Given the description of an element on the screen output the (x, y) to click on. 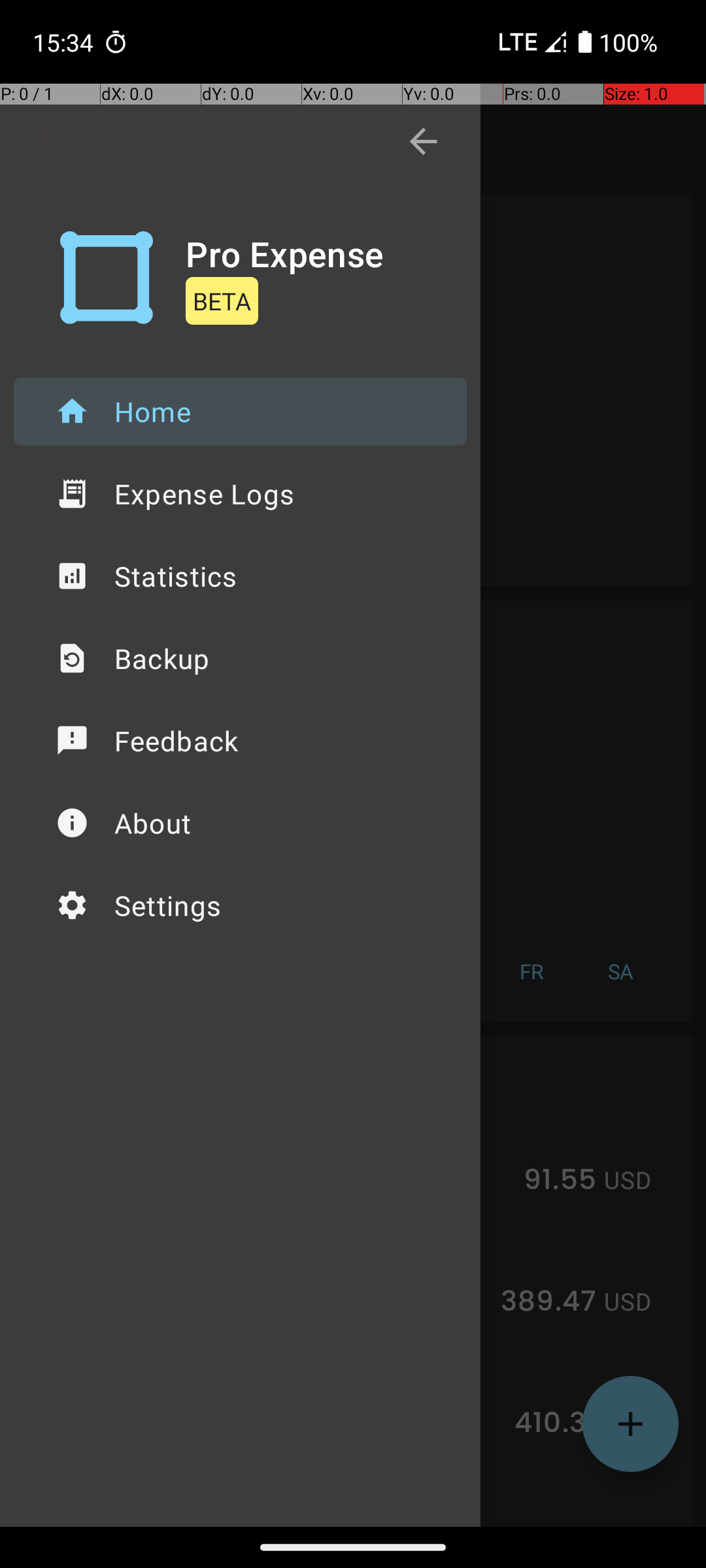
BETA Element type: android.widget.TextView (221, 300)
Statistics Element type: android.widget.CheckedTextView (239, 576)
Backup Element type: android.widget.CheckedTextView (239, 658)
Feedback Element type: android.widget.CheckedTextView (239, 740)
